Given the description of an element on the screen output the (x, y) to click on. 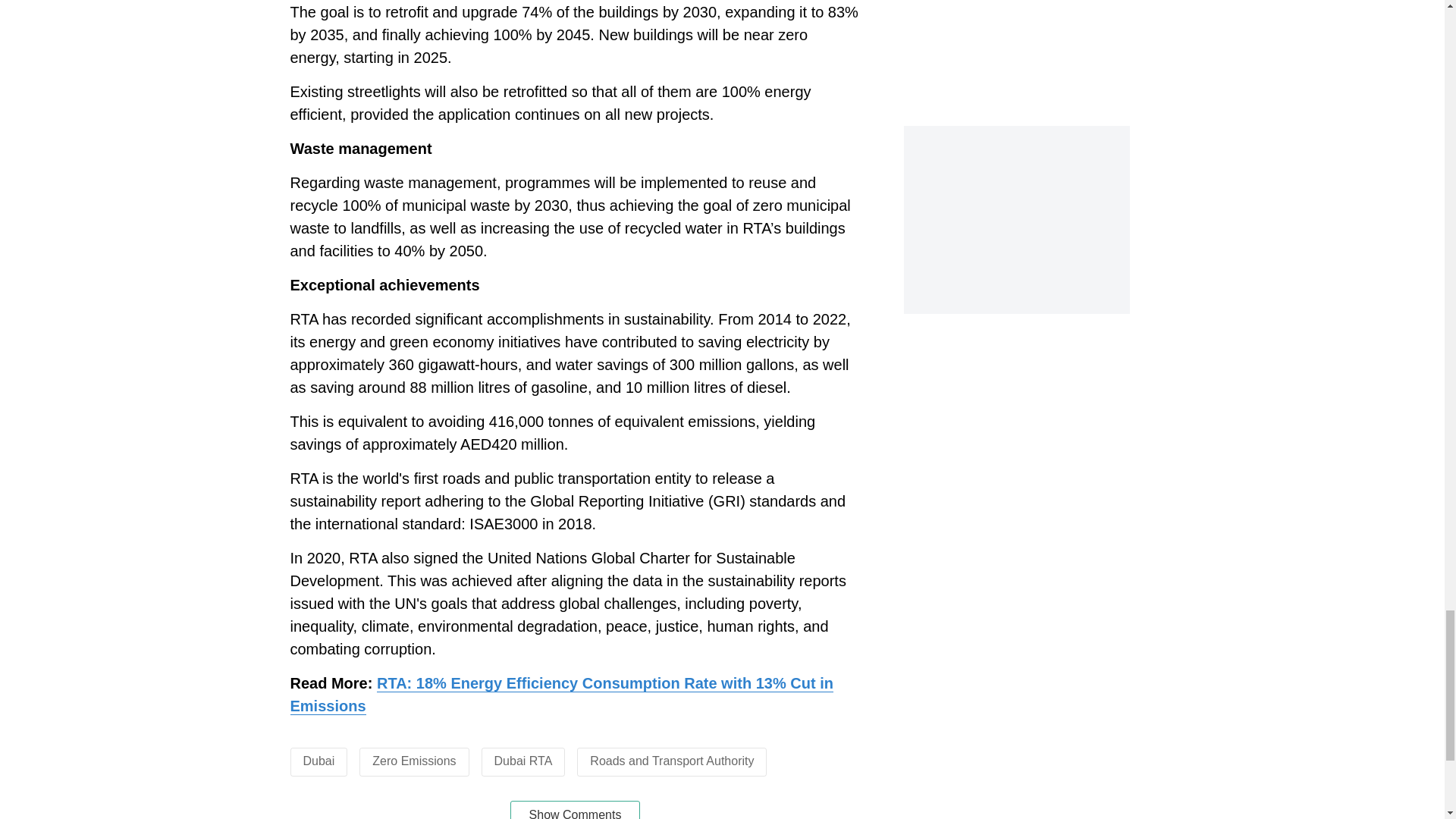
Show Comments (575, 809)
Zero Emissions (413, 760)
Dubai (318, 760)
Roads and Transport Authority (671, 760)
Dubai RTA (524, 760)
